Given the description of an element on the screen output the (x, y) to click on. 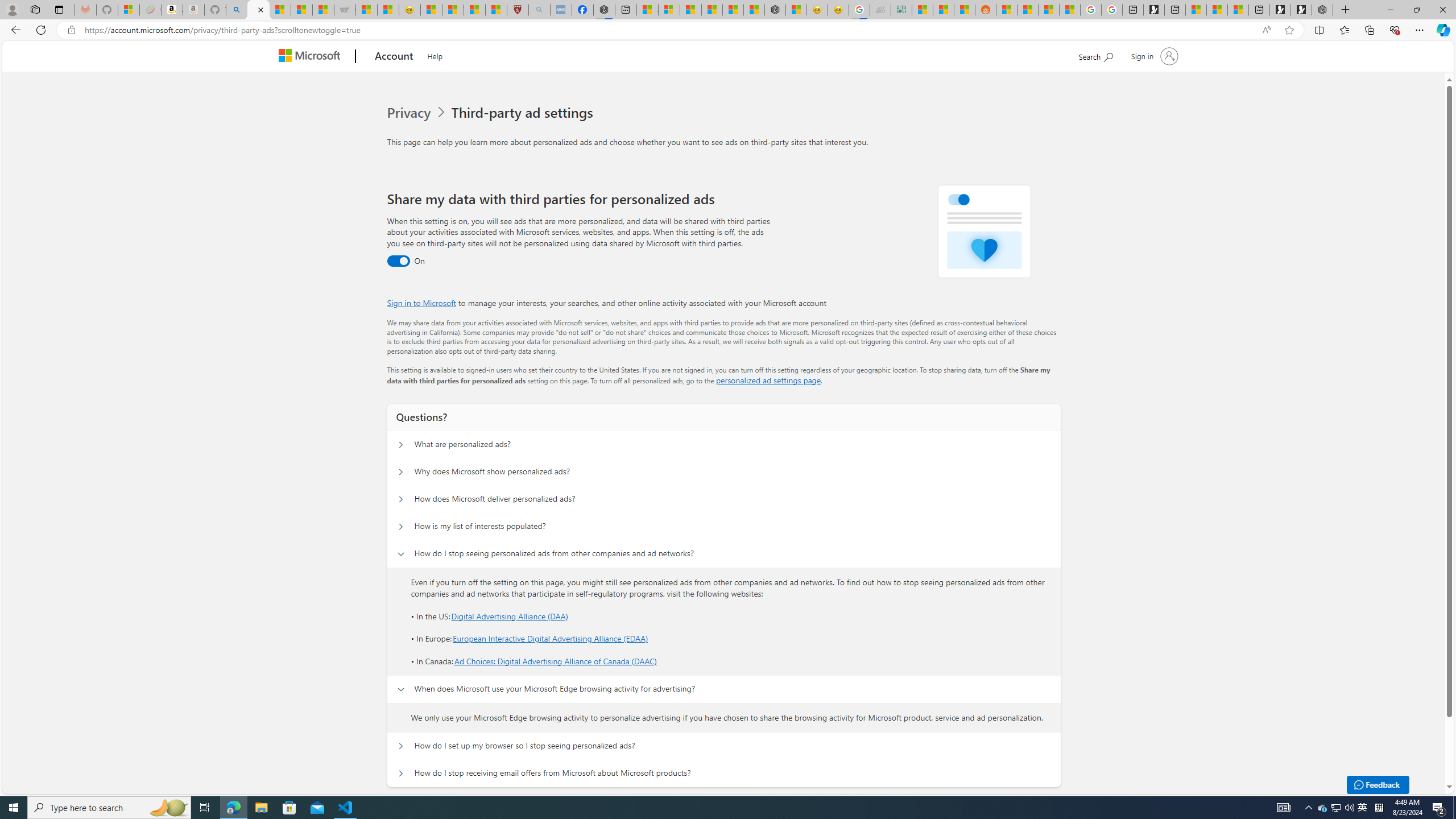
Digital Advertising Alliance (DAA) (509, 615)
Nordace - Nordace Siena Is Not An Ordinary Backpack (1322, 9)
Nordace - #1 Japanese Best-Seller - Siena Smart Backpack (775, 9)
list of asthma inhalers uk - Search - Sleeping (539, 9)
personalized ad settings page (767, 379)
